Given the description of an element on the screen output the (x, y) to click on. 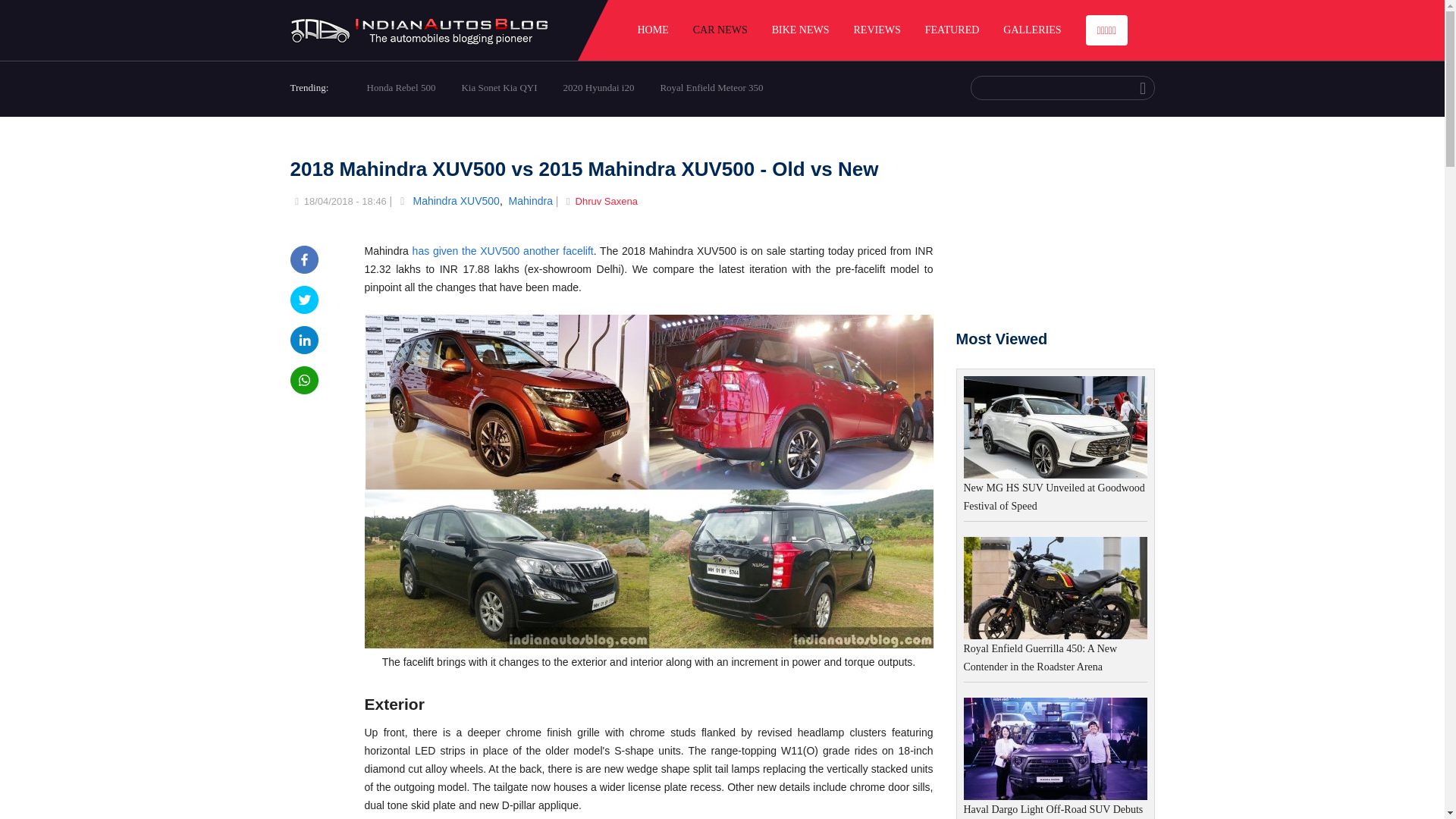
HOME (652, 30)
HOME (652, 30)
CAR NEWS (720, 30)
CAR NEWS (720, 30)
